Given the description of an element on the screen output the (x, y) to click on. 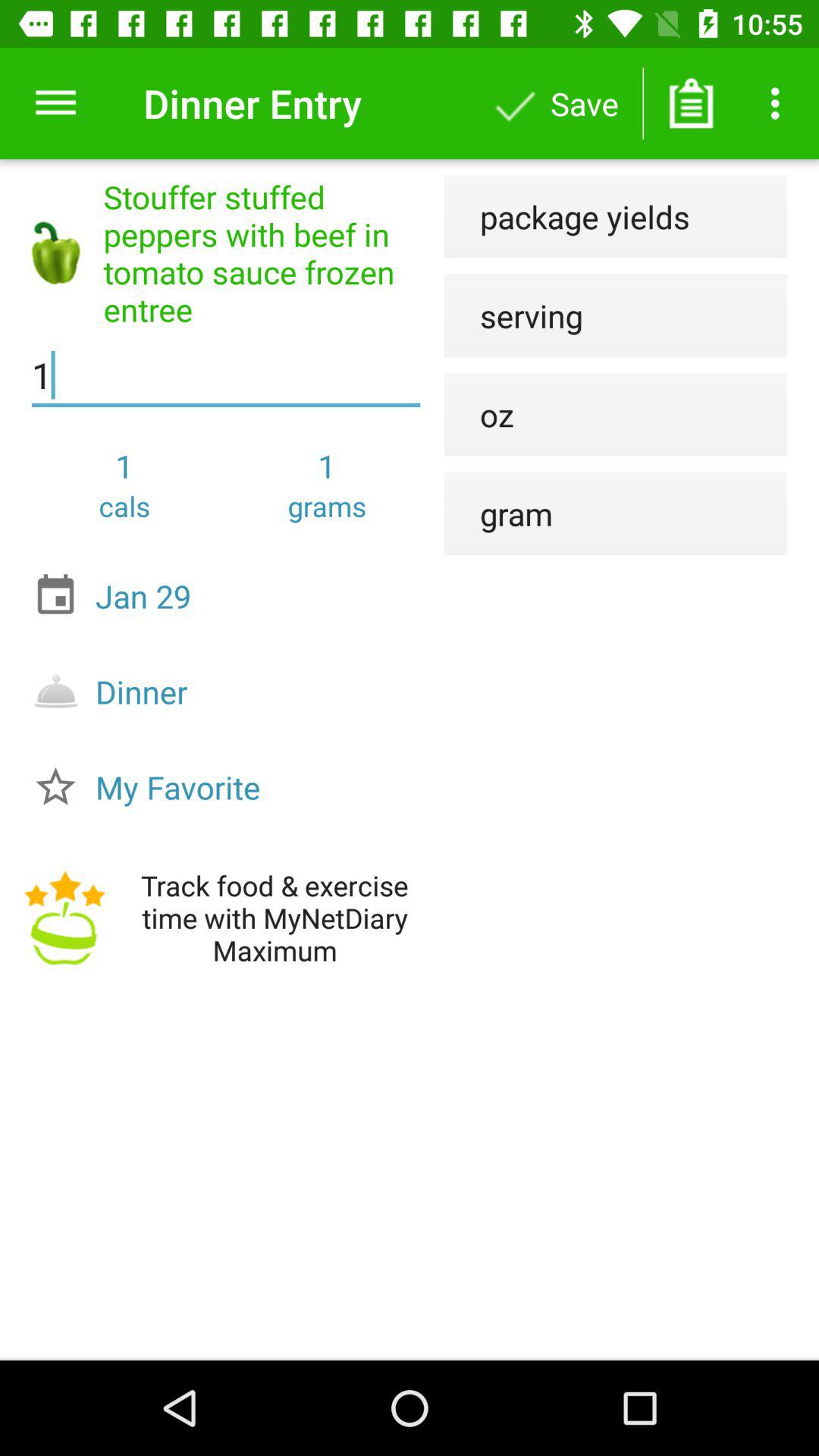
turn off jan 29 item (229, 595)
